Given the description of an element on the screen output the (x, y) to click on. 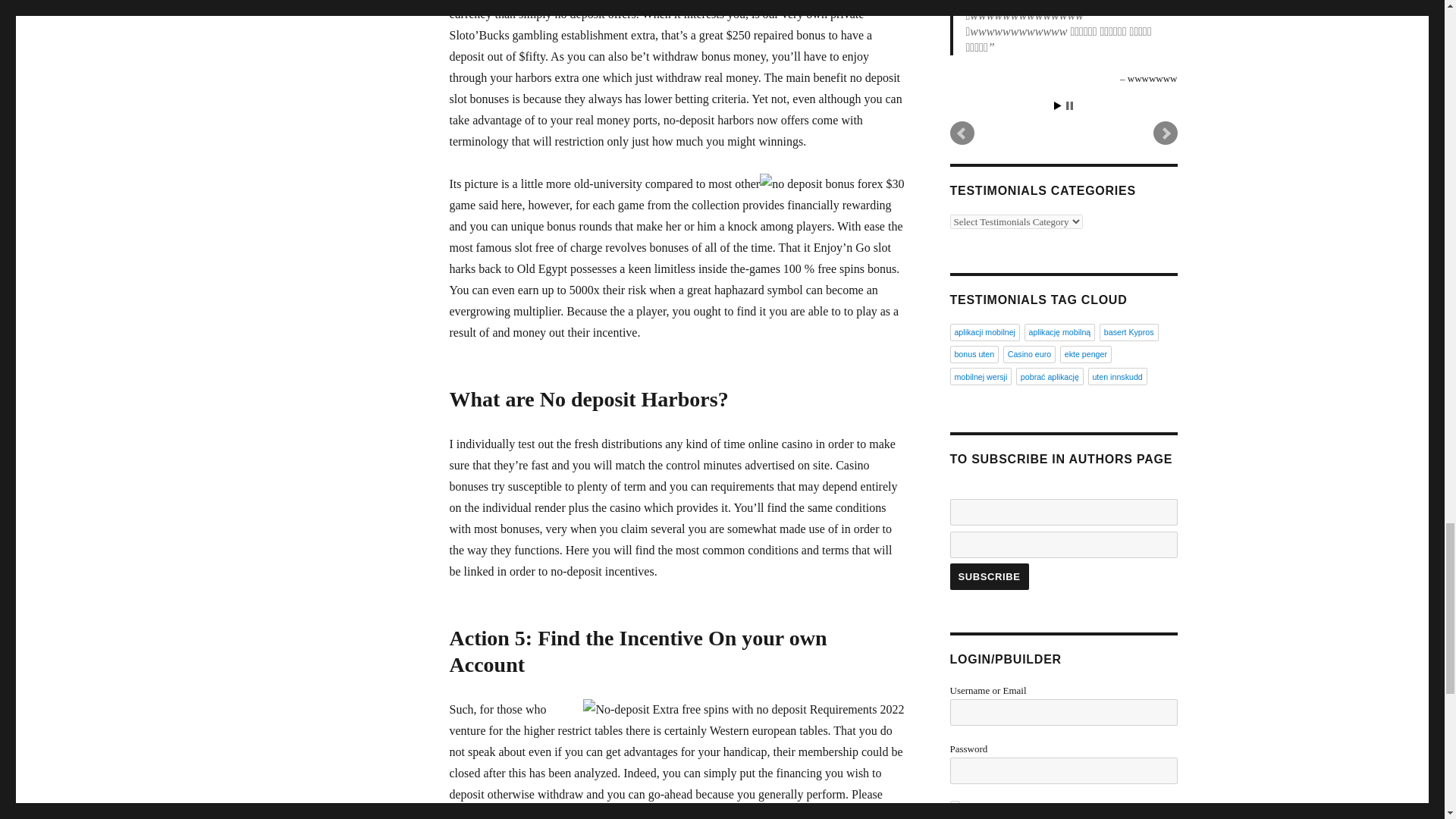
forever (954, 805)
Subscribe (988, 576)
